Given the description of an element on the screen output the (x, y) to click on. 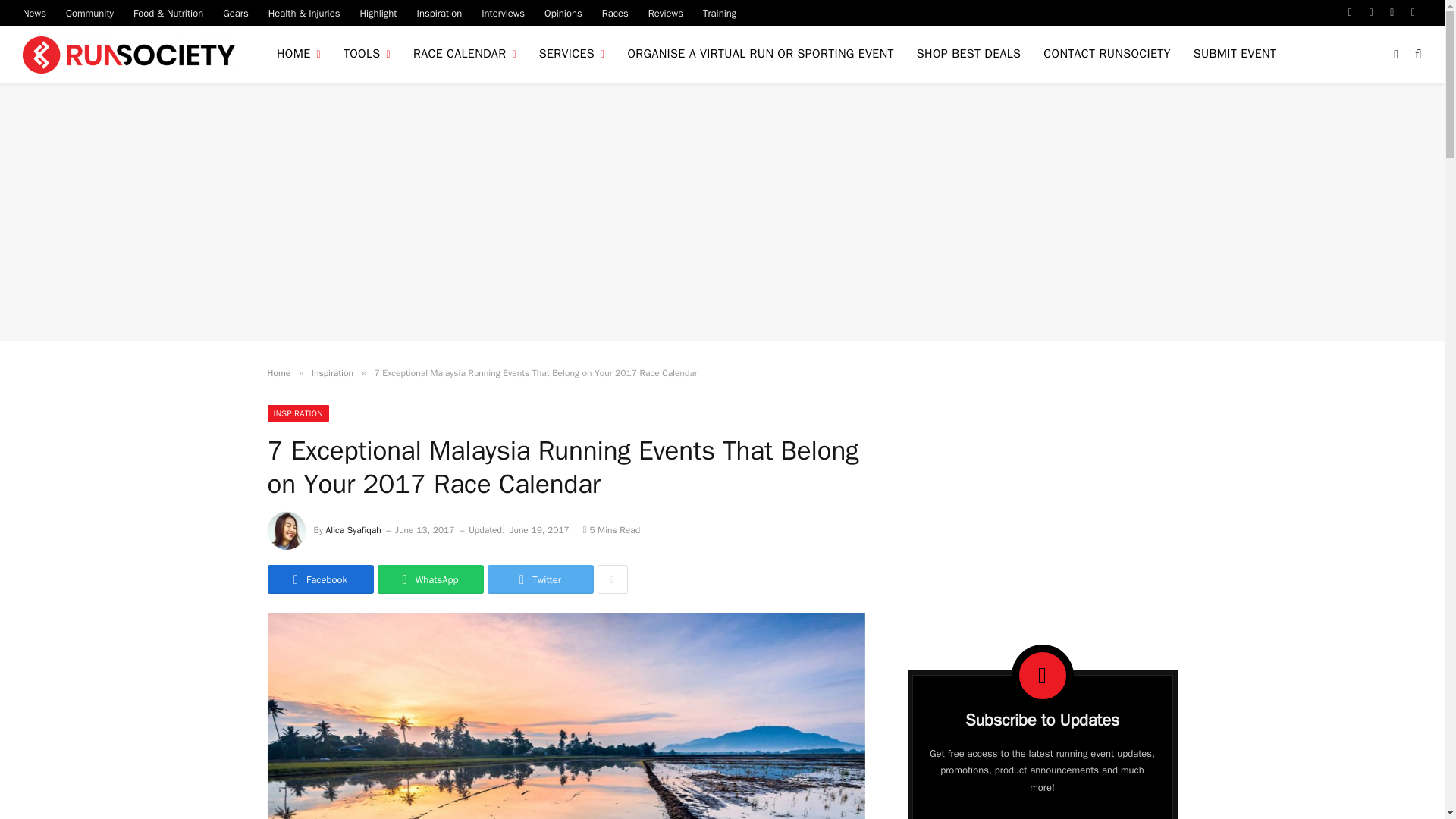
Posts by Alica Syafiqah (353, 530)
Share on Facebook (319, 579)
Share on WhatsApp (430, 579)
Switch to Dark Design - easier on eyes. (1396, 54)
